Given the description of an element on the screen output the (x, y) to click on. 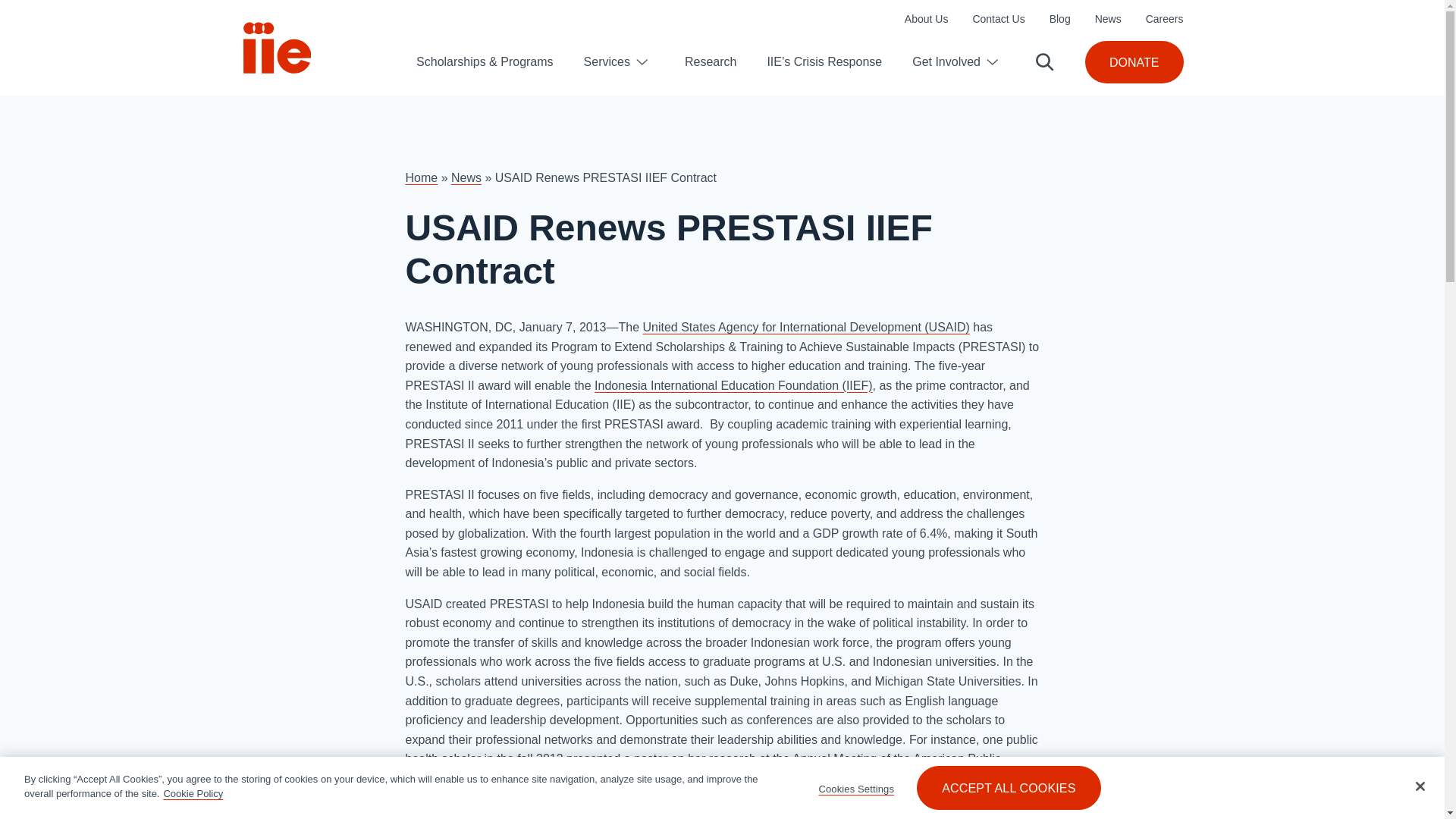
Toggle submenu for: Get Involved (991, 62)
Open search (1045, 61)
Blog (1059, 19)
Get Involved (945, 61)
Research (710, 61)
Toggle submenu for: Services (641, 62)
Home (421, 177)
IIE - The Power of International Education (277, 47)
Careers (1164, 19)
Contact Us (998, 19)
About Us (926, 19)
DONATE (1133, 61)
News (1107, 19)
Services (606, 61)
